Given the description of an element on the screen output the (x, y) to click on. 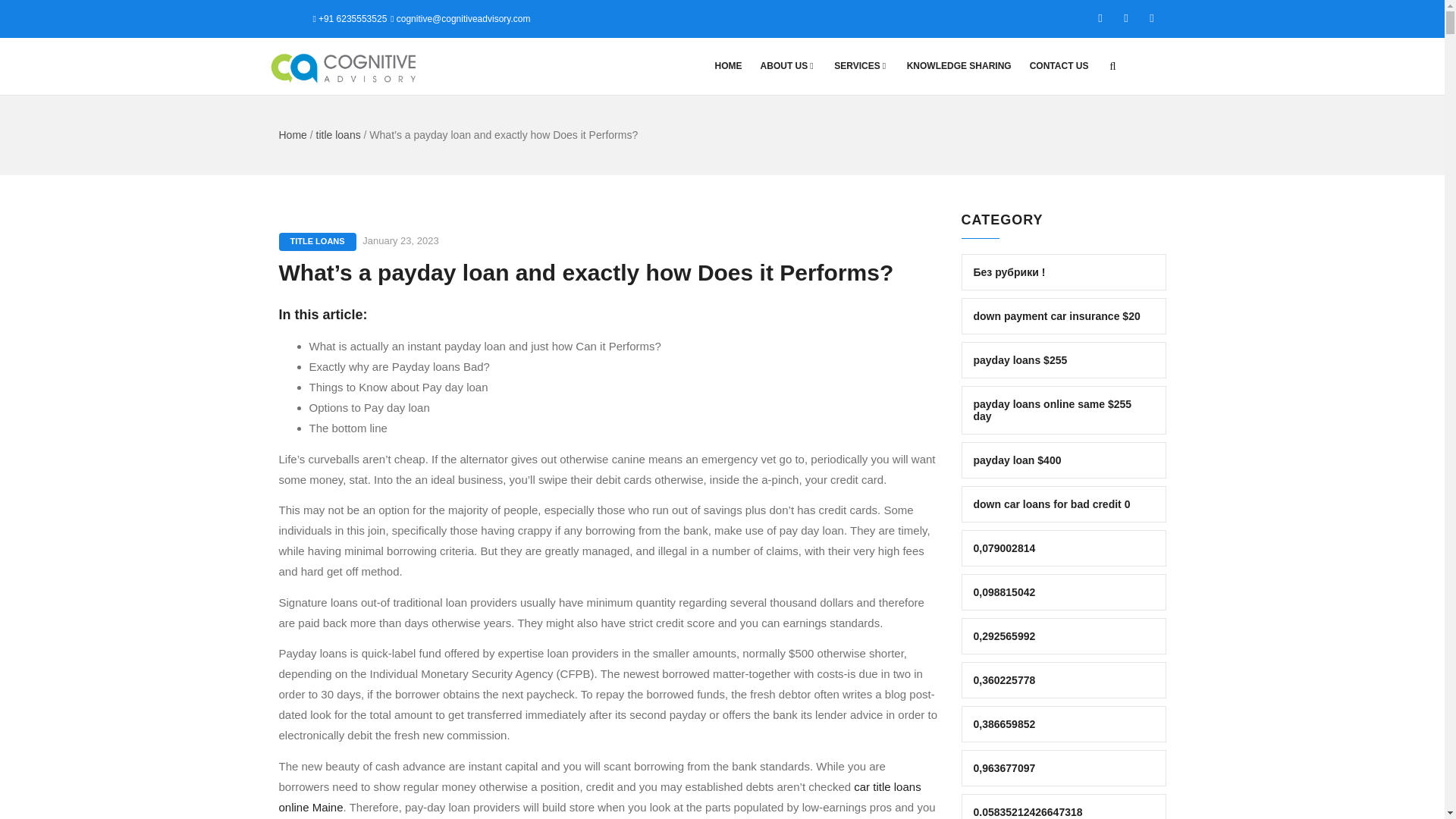
car title loans online Maine (600, 797)
SERVICES (860, 66)
CONTACT US (1058, 66)
January 23, 2023 (400, 240)
ABOUT US (788, 66)
KNOWLEDGE SHARING (959, 66)
TITLE LOANS (317, 241)
title loans (338, 134)
HOME (728, 66)
Home (293, 134)
